Given the description of an element on the screen output the (x, y) to click on. 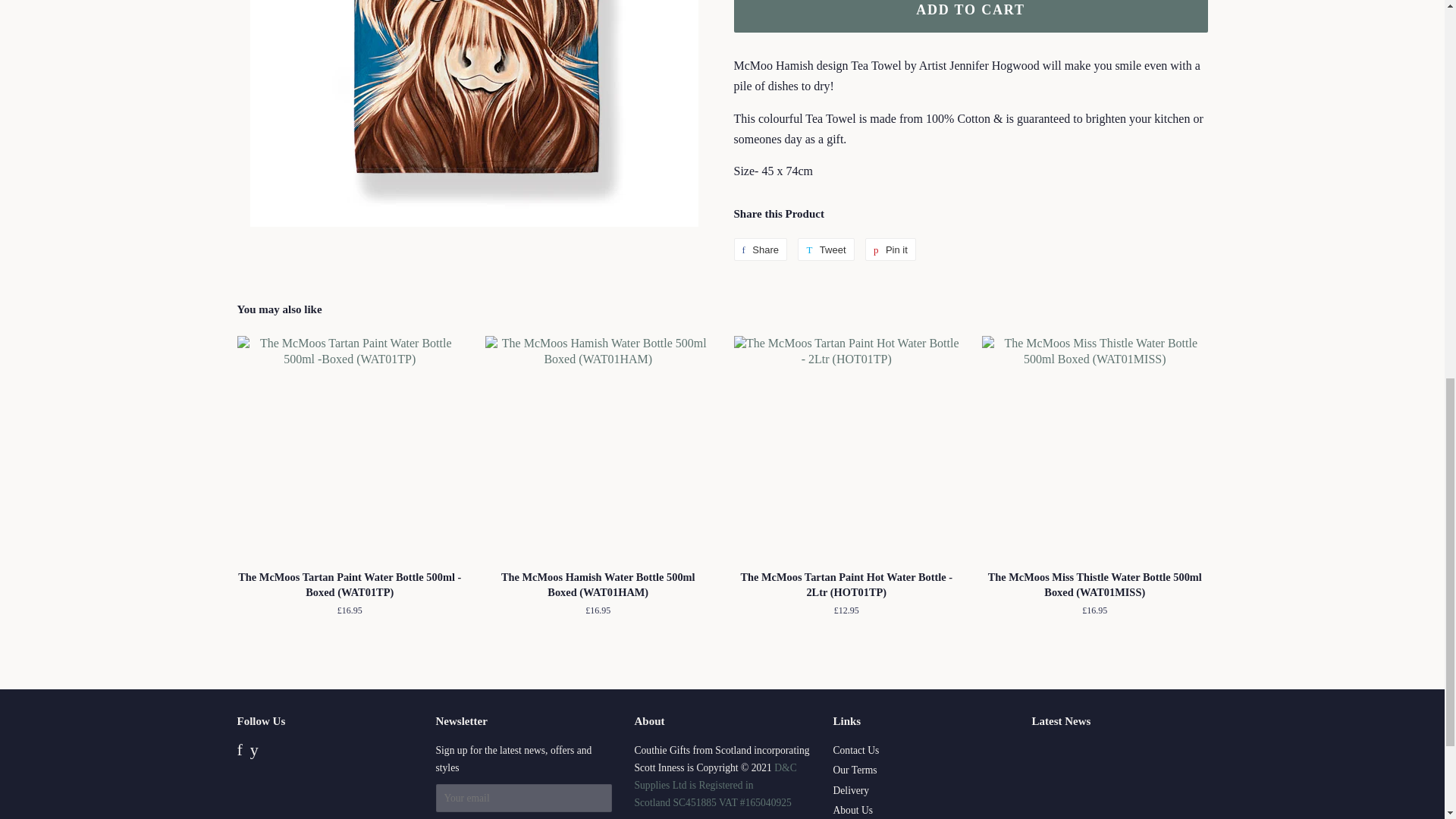
Tweet on Twitter (825, 249)
Share on Facebook (760, 249)
Pin on Pinterest (889, 249)
